Given the description of an element on the screen output the (x, y) to click on. 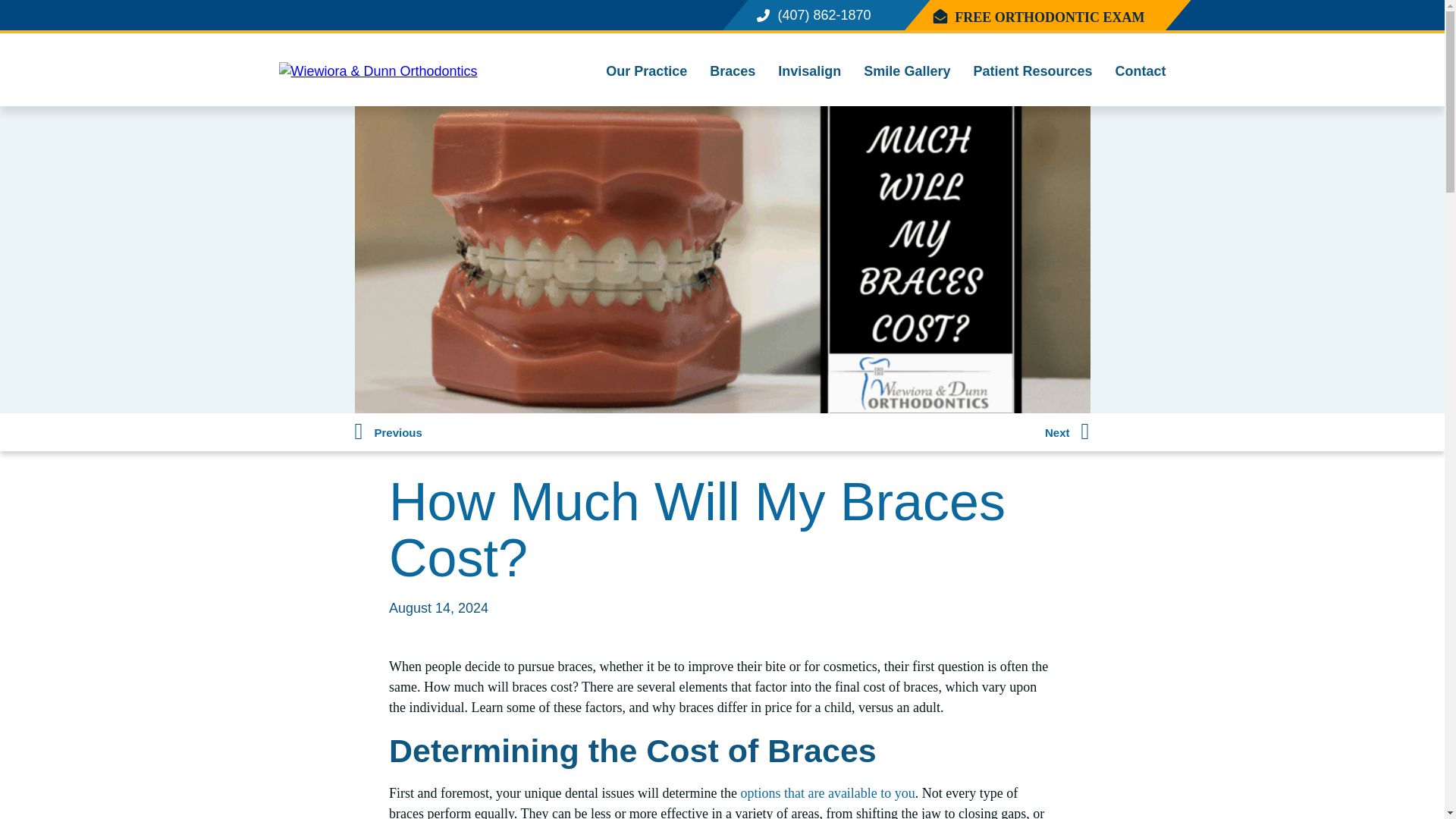
Smile Gallery (906, 71)
Braces (732, 71)
Contact (1140, 71)
FREE ORTHODONTIC EXAM (1049, 17)
Invisalign (809, 71)
Patient Resources (1032, 71)
Our Practice (646, 71)
